Given the description of an element on the screen output the (x, y) to click on. 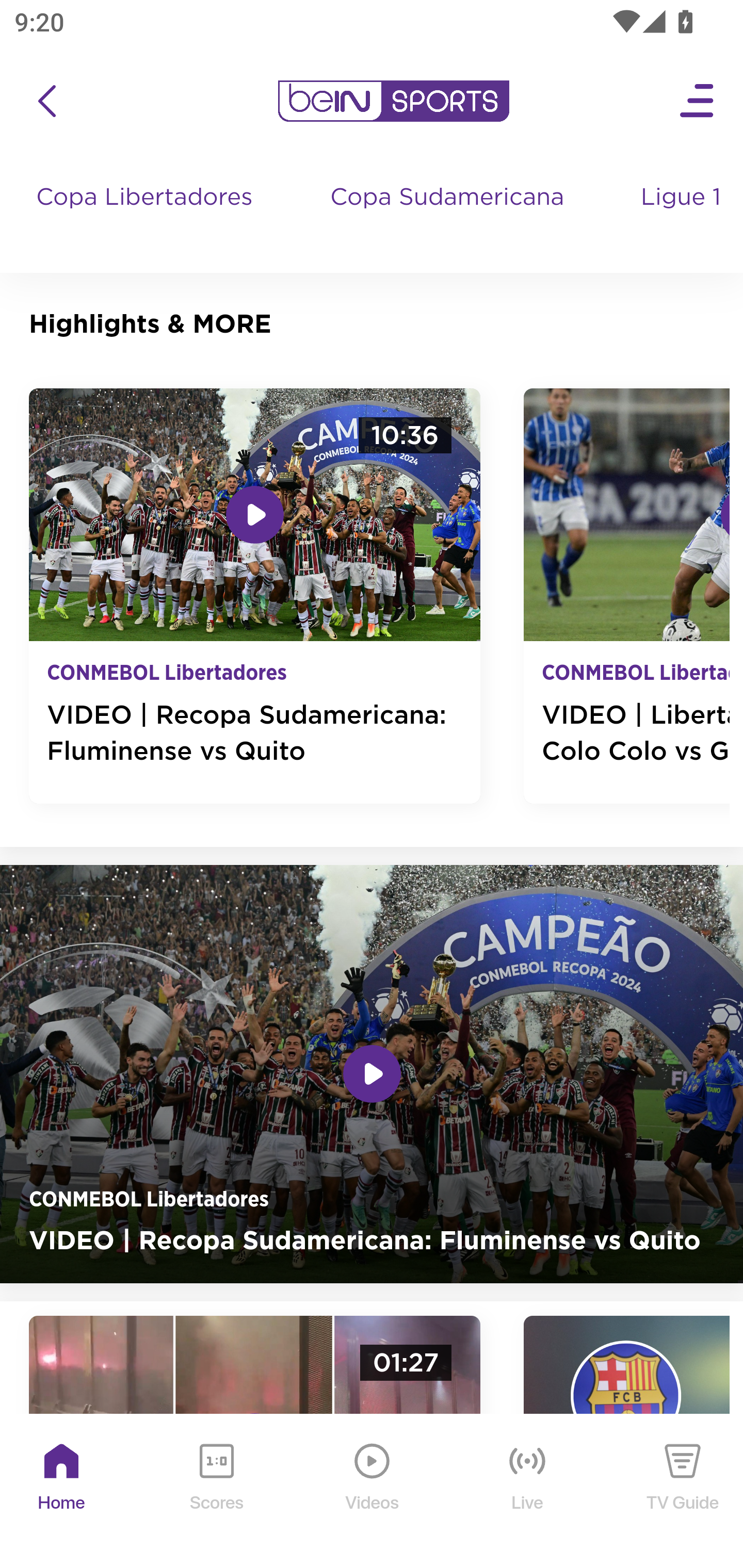
en-us?platform=mobile_android bein logo (392, 101)
icon back (46, 101)
Open Menu Icon (697, 101)
Copa Libertadores (146, 216)
Copa Sudamericana (448, 216)
Ligue 1 (682, 216)
Home Home Icon Home (61, 1491)
Scores Scores Icon Scores (216, 1491)
Videos Videos Icon Videos (372, 1491)
TV Guide TV Guide Icon TV Guide (682, 1491)
